Given the description of an element on the screen output the (x, y) to click on. 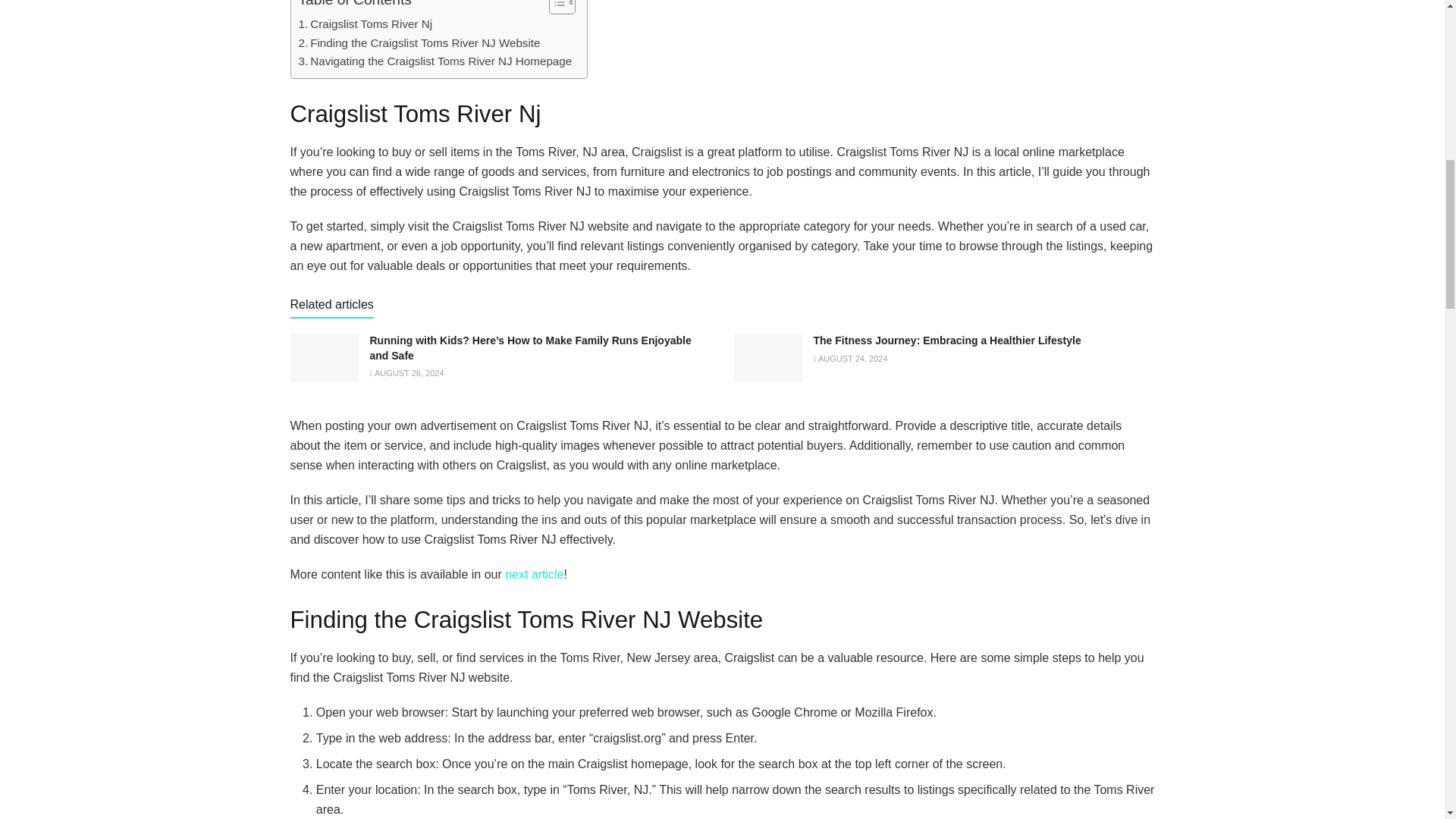
Navigating the Craigslist Toms River NJ Homepage (435, 61)
Finding the Craigslist Toms River NJ Website (419, 43)
Craigslist Toms River Nj (365, 24)
